Given the description of an element on the screen output the (x, y) to click on. 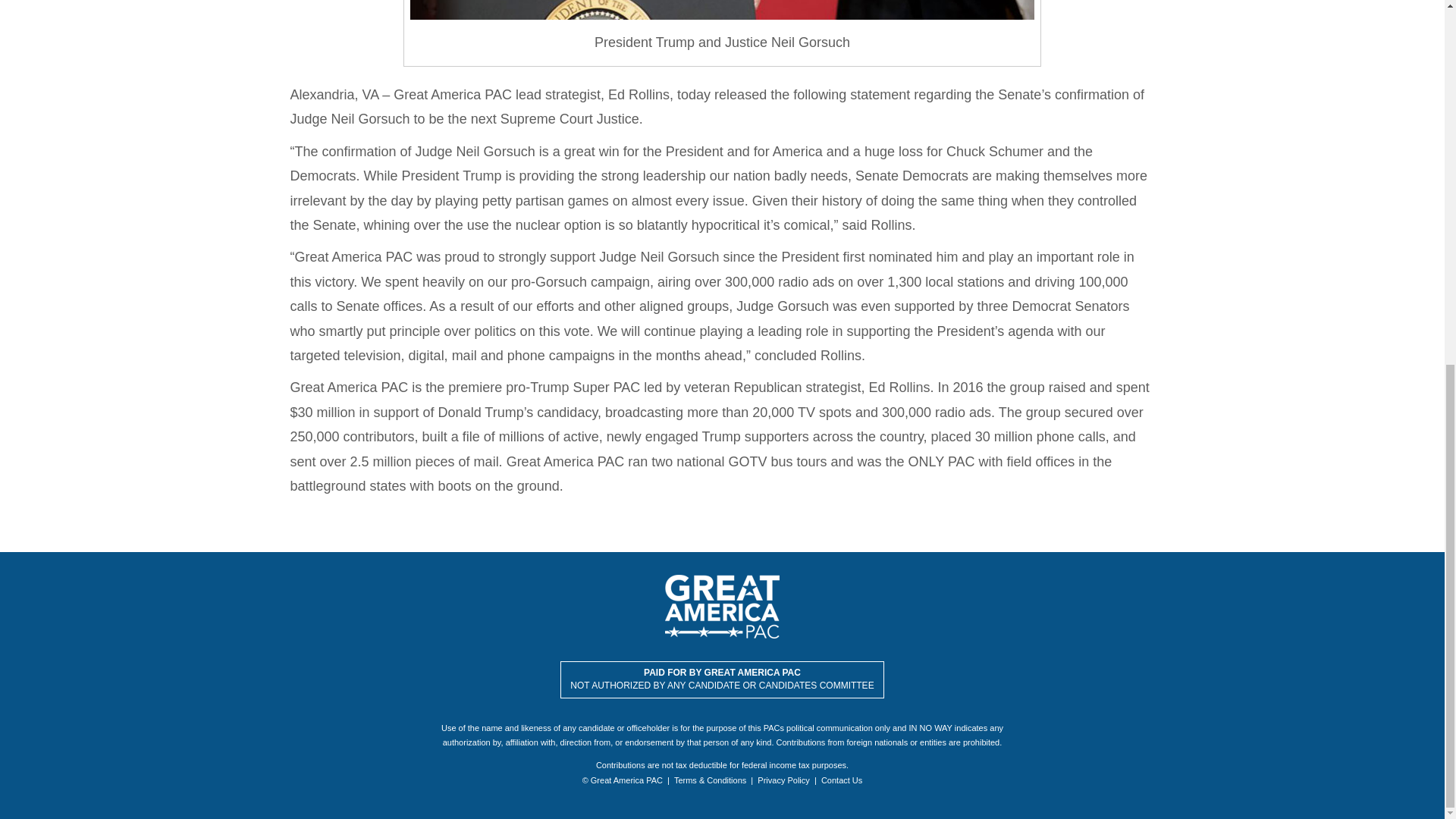
Contact Us (841, 779)
Privacy Policy (783, 779)
